Given the description of an element on the screen output the (x, y) to click on. 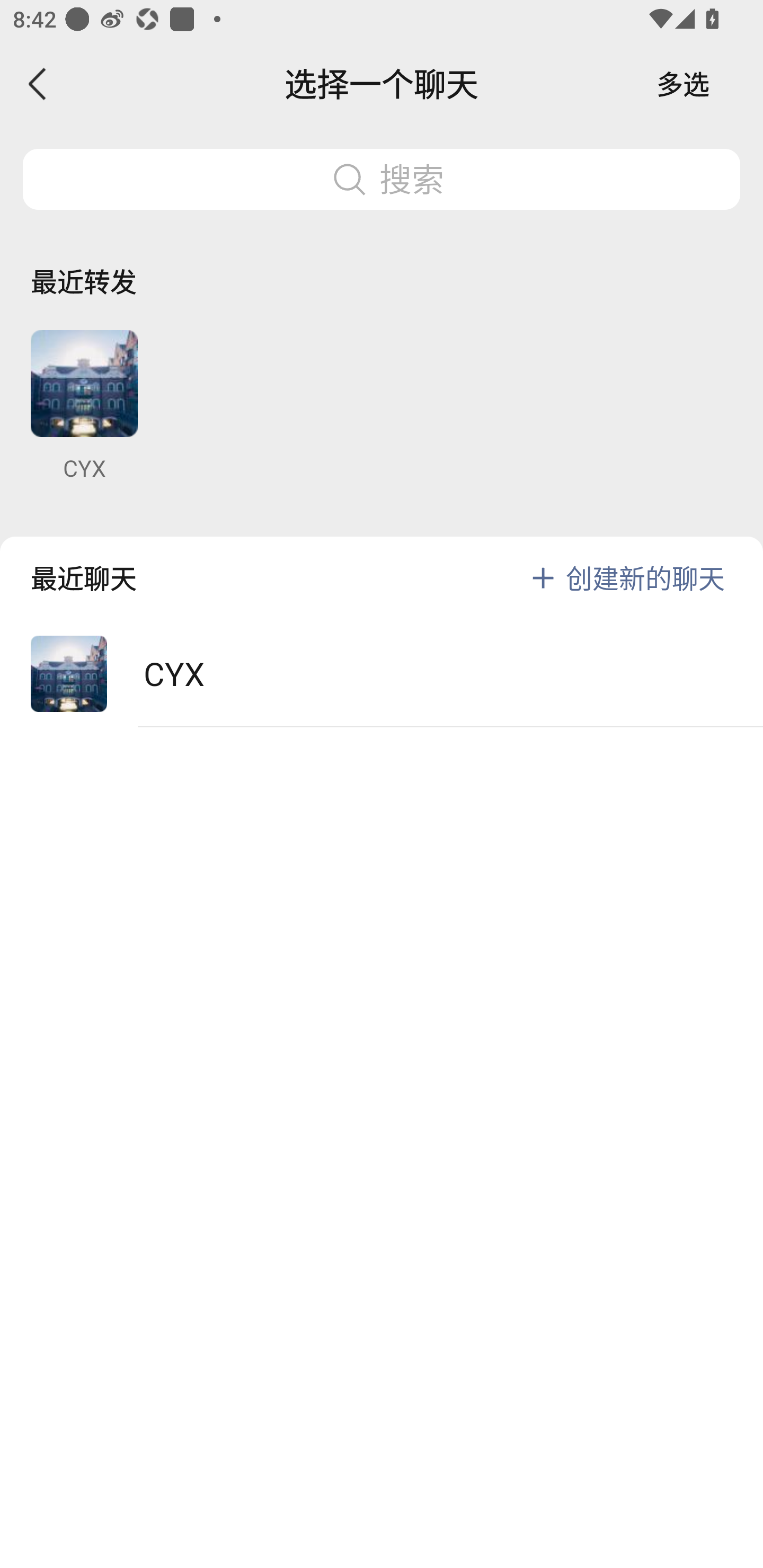
返回 (38, 83)
多选 (683, 83)
CYX (84, 405)
创建新的聊天 (645, 577)
CYX (381, 673)
